Given the description of an element on the screen output the (x, y) to click on. 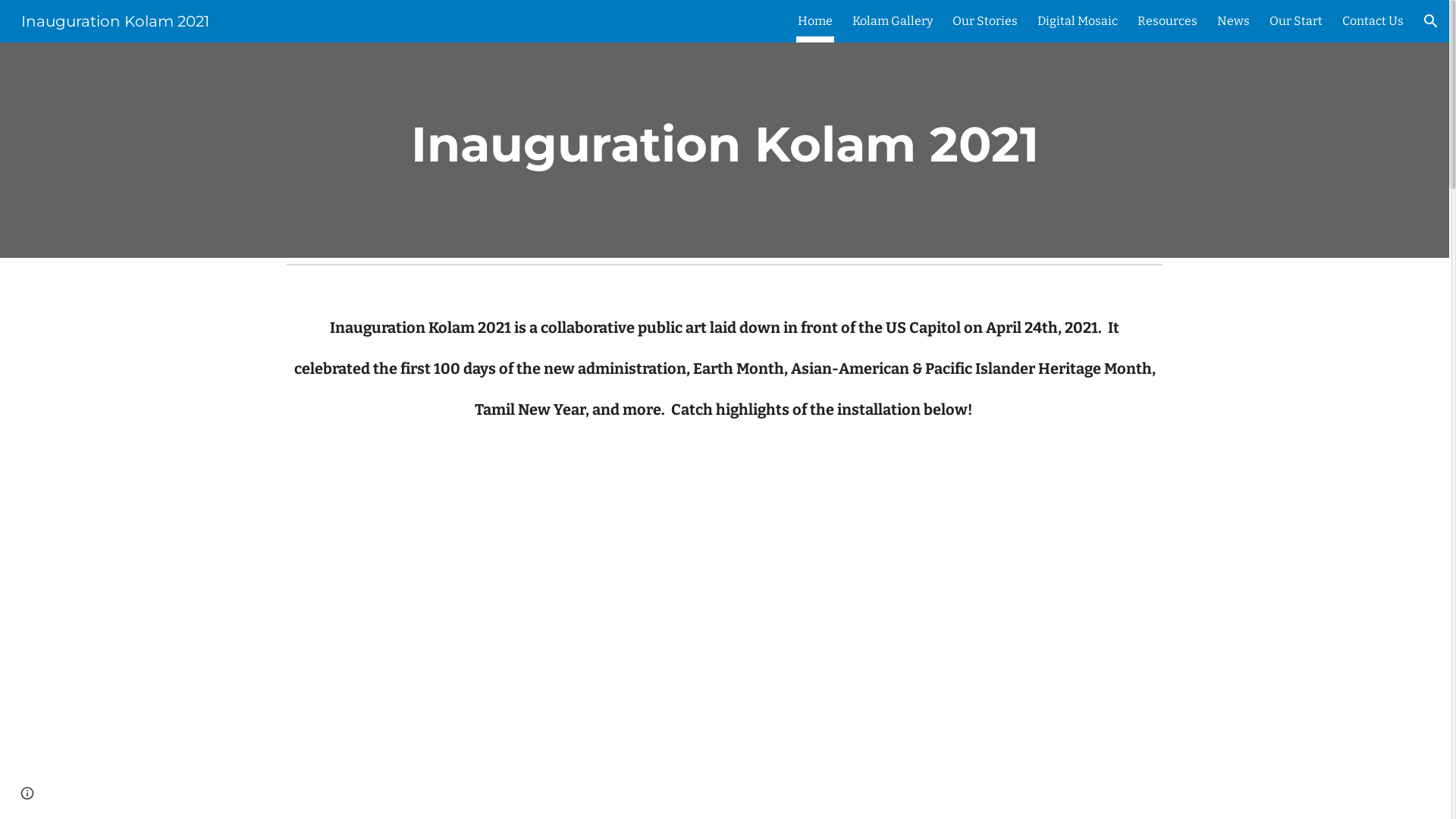
Kolam Gallery Element type: text (892, 20)
Inauguration Kolam 2021 Element type: text (115, 19)
News Element type: text (1233, 20)
Home Element type: text (814, 20)
Digital Mosaic Element type: text (1077, 20)
Contact Us Element type: text (1372, 20)
Our Start Element type: text (1295, 20)
Resources Element type: text (1167, 20)
Our Stories Element type: text (984, 20)
